Given the description of an element on the screen output the (x, y) to click on. 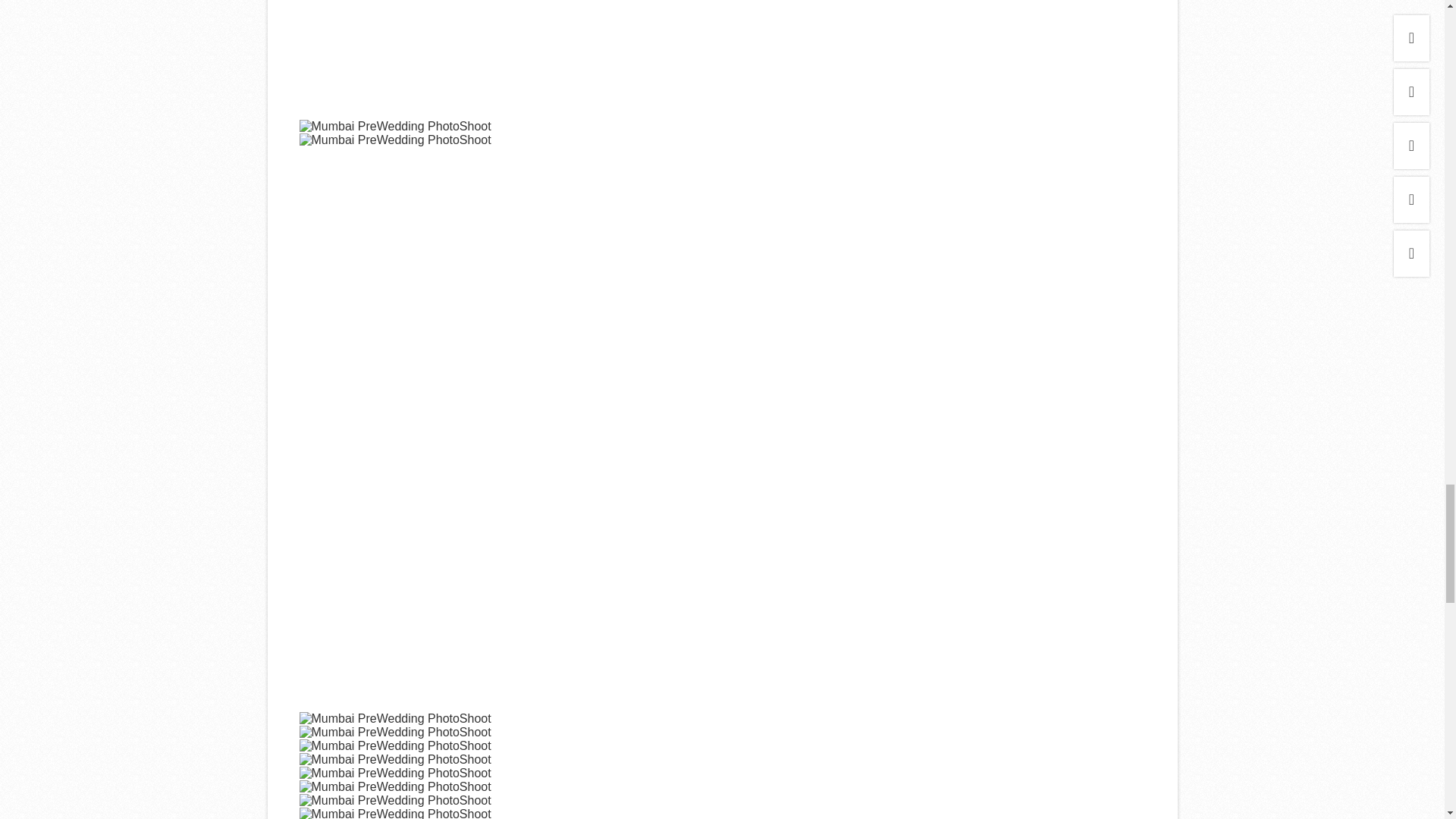
Mumbai PreWedding PhotoShoot (394, 731)
Mumbai PreWedding PhotoShoot (394, 812)
Mumbai PreWedding PhotoShoot (394, 745)
Mumbai PreWedding PhotoShoot (394, 799)
Mumbai PreWedding PhotoShoot (394, 717)
Mumbai PreWedding PhotoShoot (394, 140)
Mumbai PreWedding PhotoShoot (394, 772)
Mumbai PreWedding PhotoShoot (394, 786)
Mumbai PreWedding PhotoShoot (394, 758)
Mumbai PreWedding PhotoShoot (721, 59)
Mumbai PreWedding PhotoShoot (394, 126)
